Given the description of an element on the screen output the (x, y) to click on. 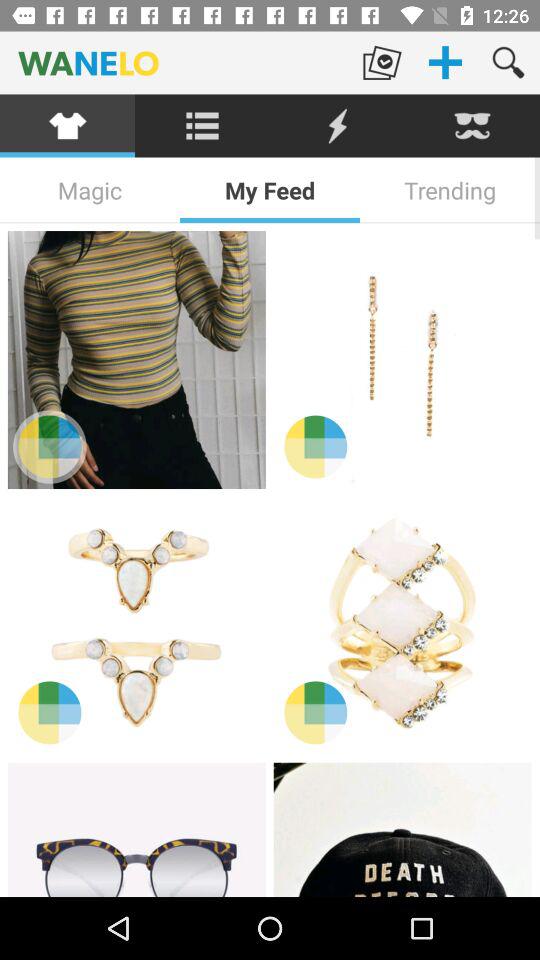
change the color (49, 446)
